Given the description of an element on the screen output the (x, y) to click on. 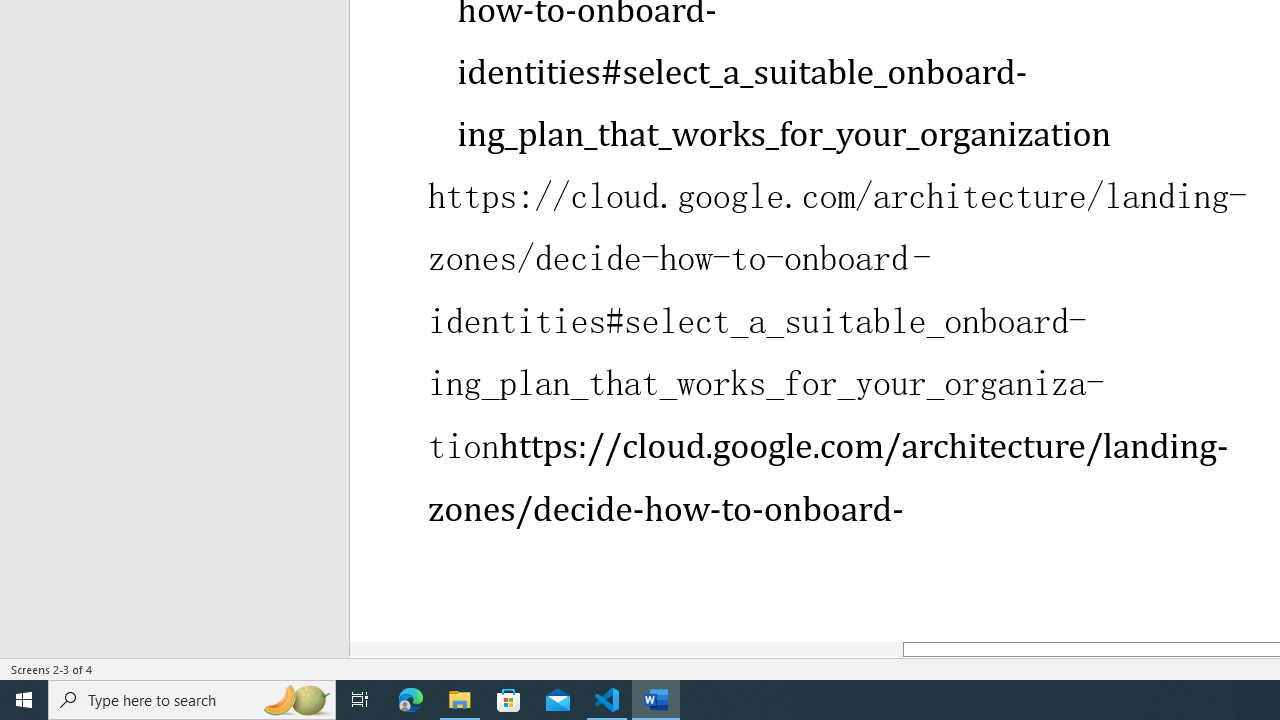
Page Number Screens 2-3 of 4  (52, 668)
